Given the description of an element on the screen output the (x, y) to click on. 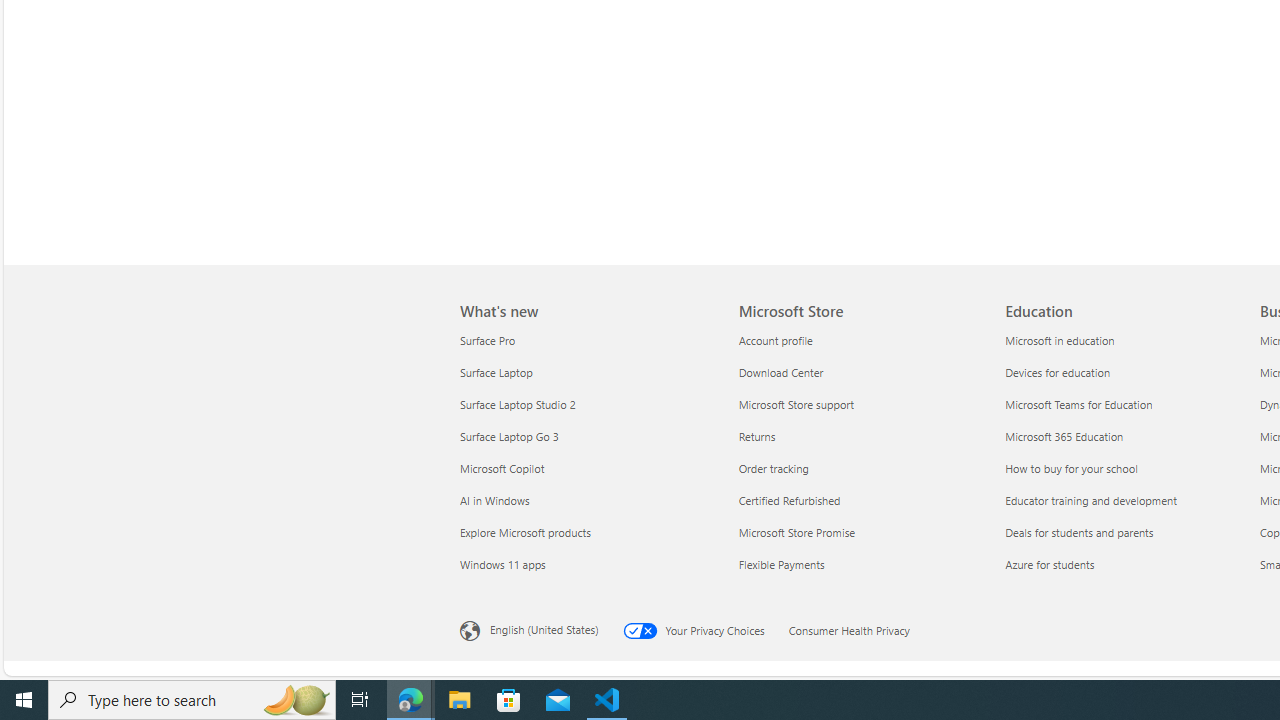
AI in Windows (587, 499)
Azure for students Education (1049, 563)
Order tracking (859, 468)
Microsoft Store Promise Microsoft Store (797, 532)
Surface Laptop What's new (495, 372)
How to buy for your school (1126, 468)
Order tracking Microsoft Store (773, 467)
Educator training and development Education (1090, 499)
Azure for students (1126, 564)
Download Center (859, 371)
Devices for education Education (1057, 372)
Returns (859, 435)
Surface Laptop (587, 371)
Microsoft in education (1126, 340)
